Given the description of an element on the screen output the (x, y) to click on. 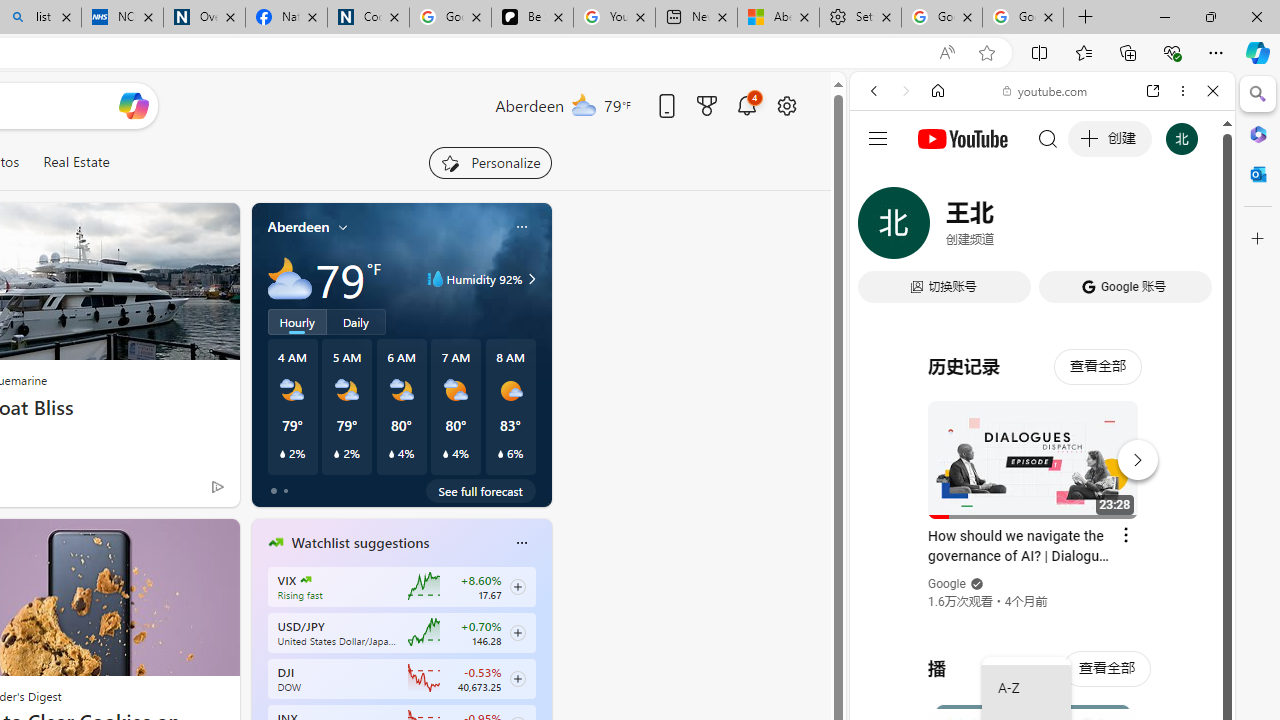
Search Filter, Search Tools (1093, 228)
CBOE Market Volatility Index (306, 579)
Mostly cloudy (289, 278)
